Given the description of an element on the screen output the (x, y) to click on. 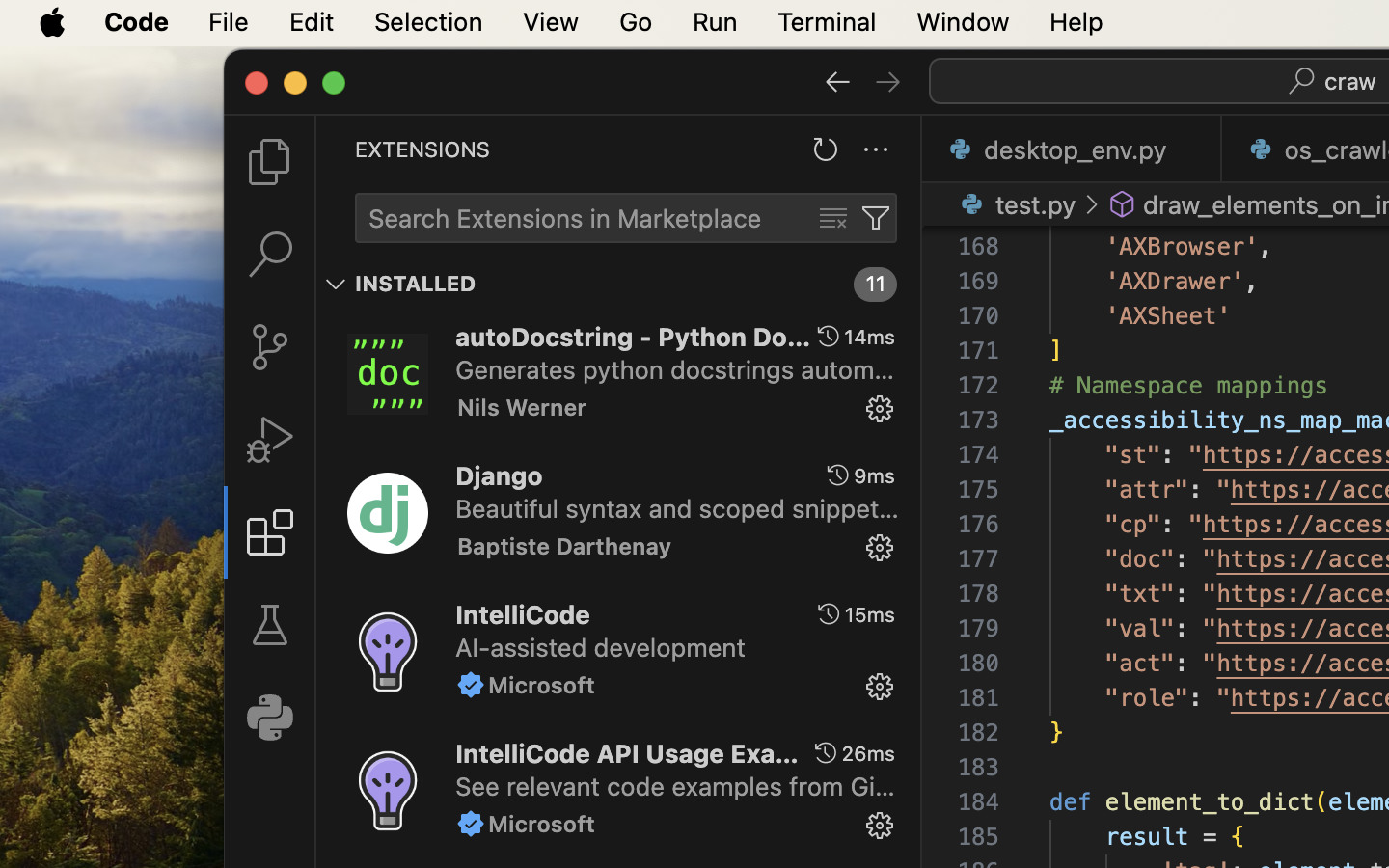
Microsoft Element type: AXStaticText (542, 684)
INSTALLED Element type: AXStaticText (415, 284)
See relevant code examples from GitHub for over 100K different APIs right in your editor. Element type: AXStaticText (675, 785)
IntelliCode API Usage Examples Element type: AXStaticText (627, 752)
 Element type: AXButton (838, 80)
